Given the description of an element on the screen output the (x, y) to click on. 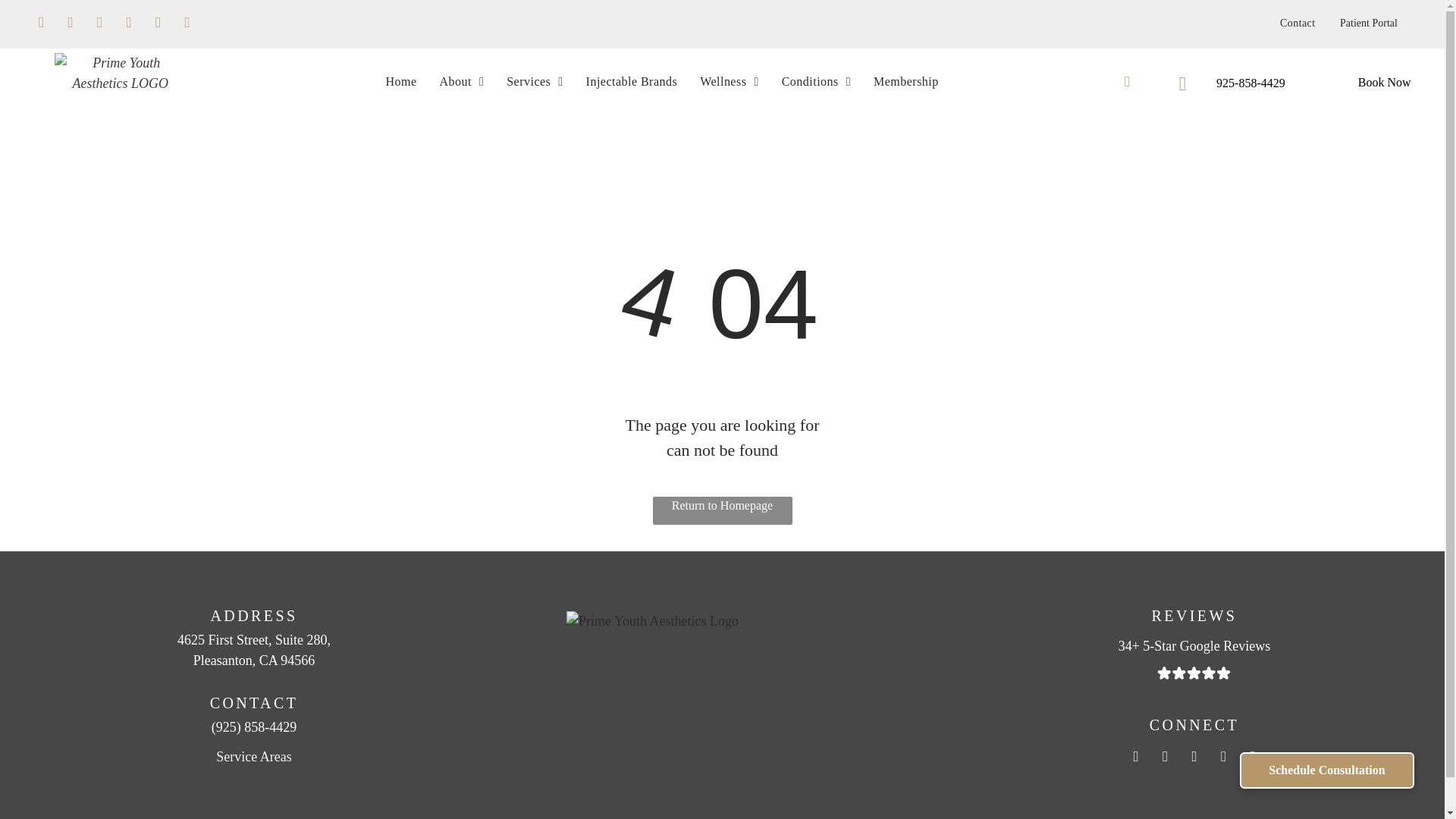
Wellness (729, 81)
Patient Portal (1368, 22)
Conditions (815, 81)
Services (534, 81)
Injectable Brands (631, 81)
About (461, 81)
Contact (1297, 23)
Home (401, 81)
